Given the description of an element on the screen output the (x, y) to click on. 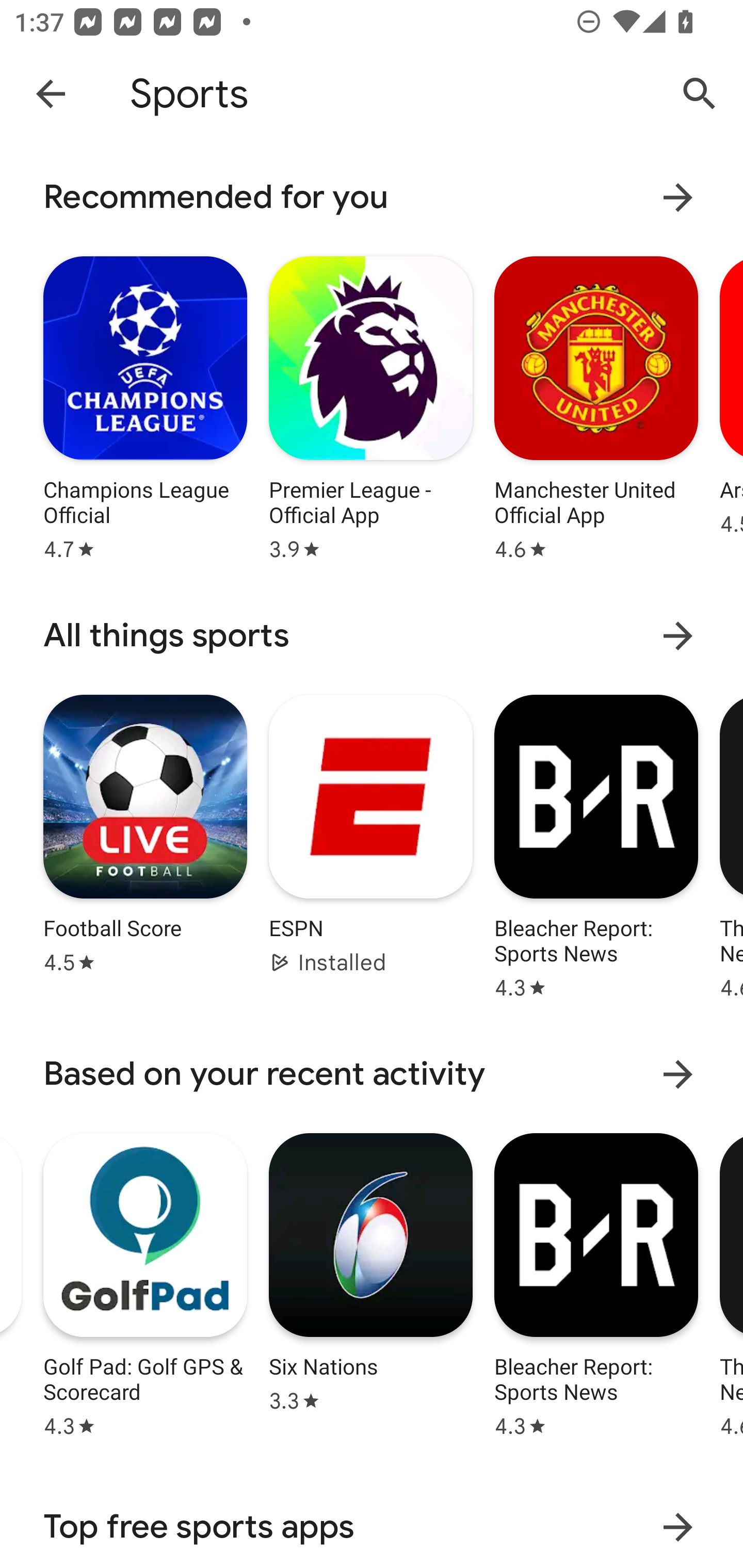
Navigate up (50, 92)
Search Google Play (699, 93)
More results for Recommended for you (677, 197)
App: Champions League Official
Star rating: 4.7


 (144, 405)
More results for All things sports (677, 635)
App: Football Score
Star rating: 4.5


 (144, 844)
App: ESPN
Installed

 (370, 844)
More results for Based on your recent activity (677, 1074)
App: Six Nations
Star rating: 3.3


 (370, 1282)
More results for Top free sports apps (677, 1527)
